Given the description of an element on the screen output the (x, y) to click on. 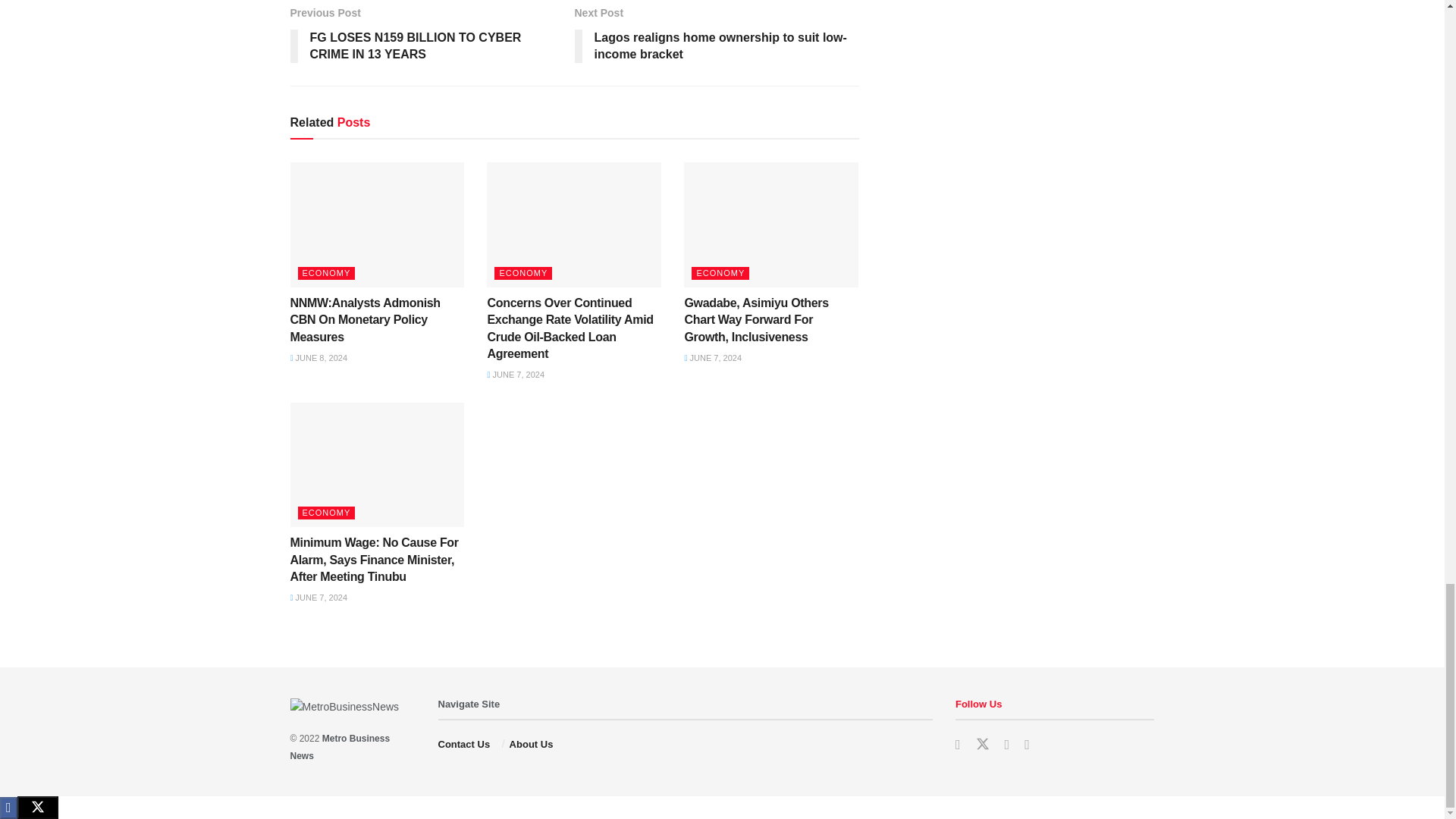
metrobusinessnews (469, 704)
metrobusinessnews (339, 746)
